Given the description of an element on the screen output the (x, y) to click on. 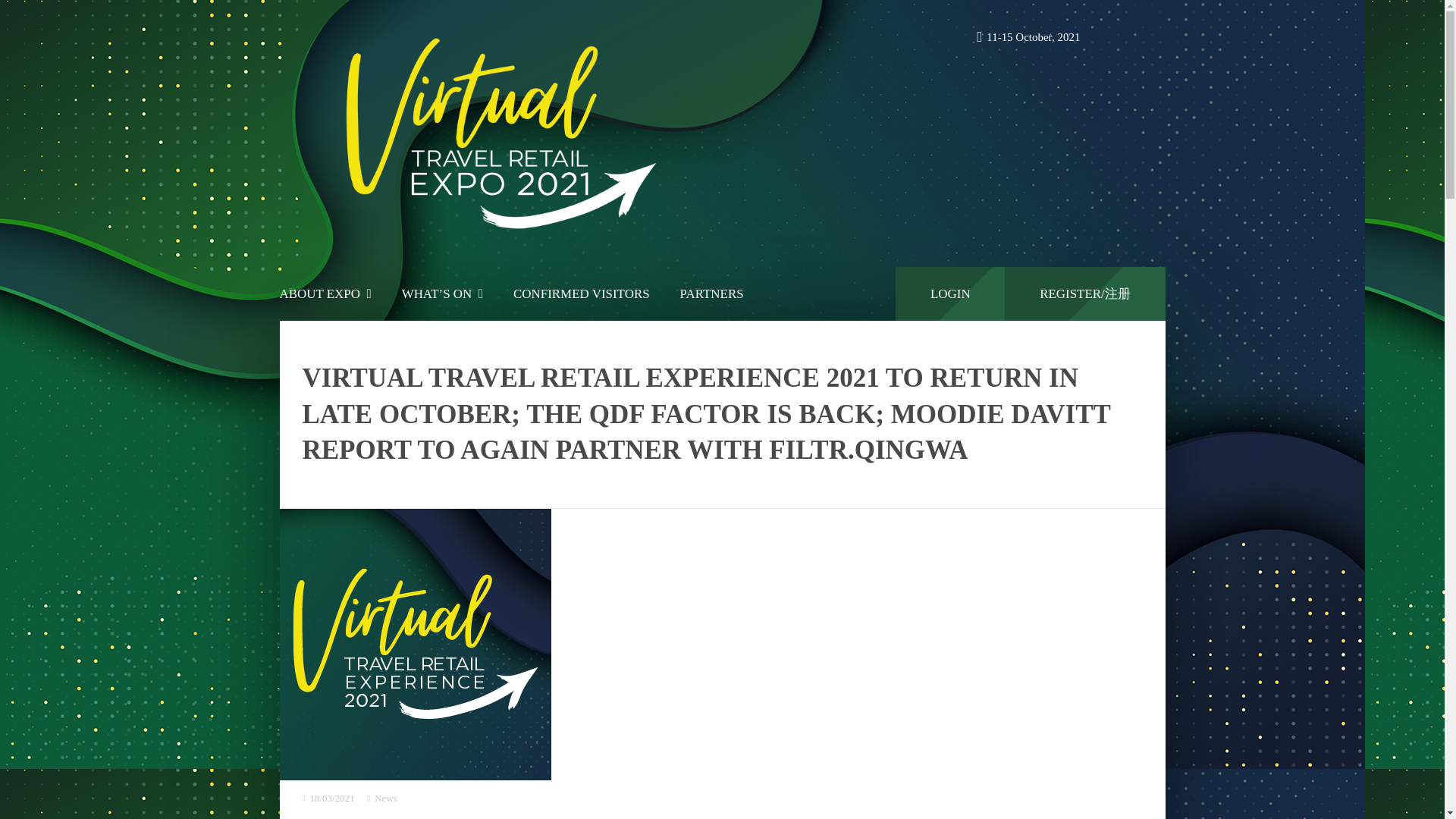
Instagram (1118, 37)
CONFIRMED VISITORS (581, 293)
PARTNERS (711, 293)
LOGIN (949, 293)
Twitter (1149, 37)
ABOUT EXPO (325, 293)
